Given the description of an element on the screen output the (x, y) to click on. 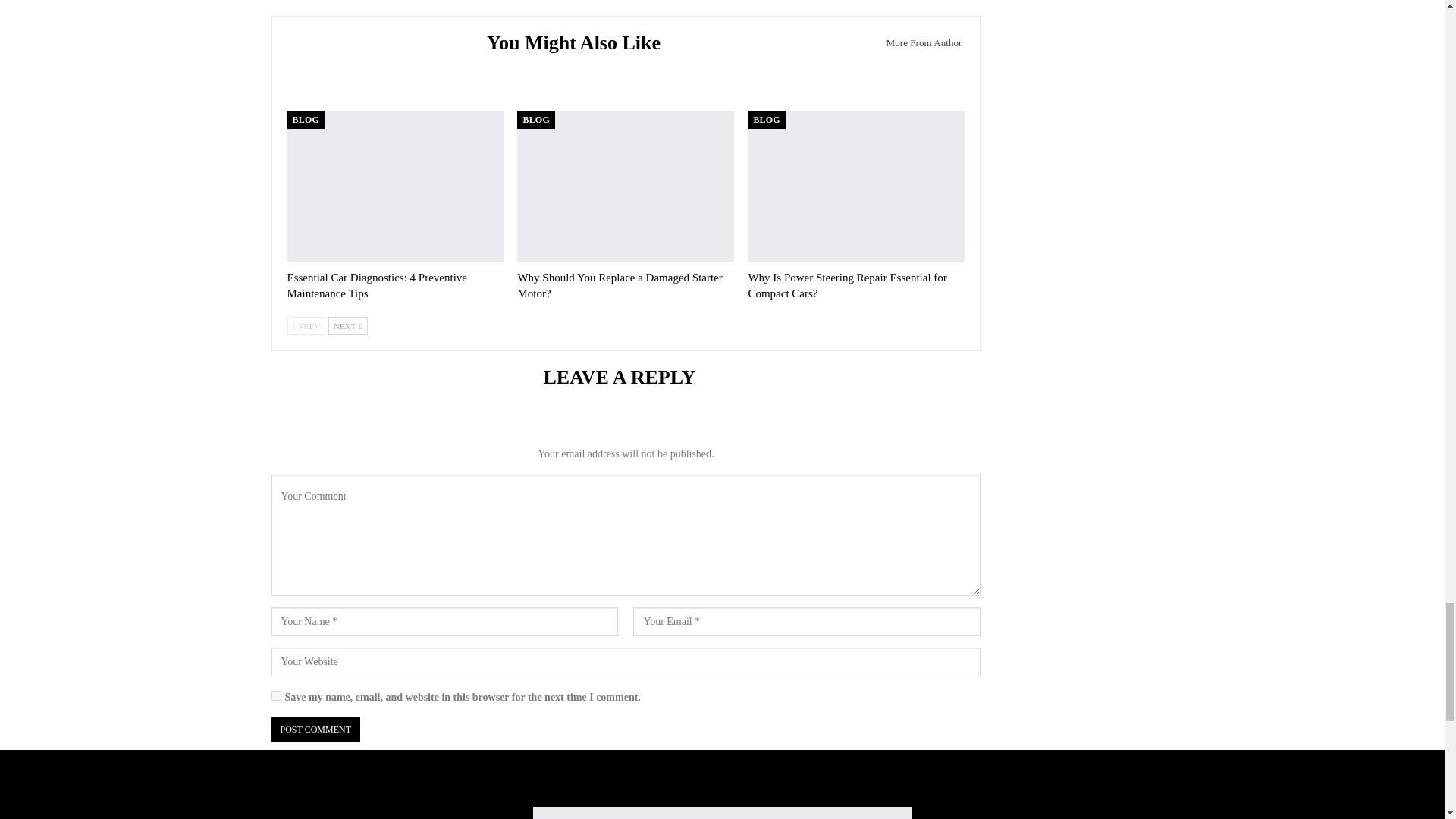
Essential Car Diagnostics: 4 Preventive Maintenance Tips (394, 186)
Why Should You Replace a Damaged Starter Motor? (624, 186)
Why Should You Replace a Damaged Starter Motor? (619, 285)
Post Comment (314, 729)
You Might Also Like (579, 44)
More From Author (919, 42)
Essential Car Diagnostics: 4 Preventive Maintenance Tips (375, 285)
yes (275, 696)
